Given the description of an element on the screen output the (x, y) to click on. 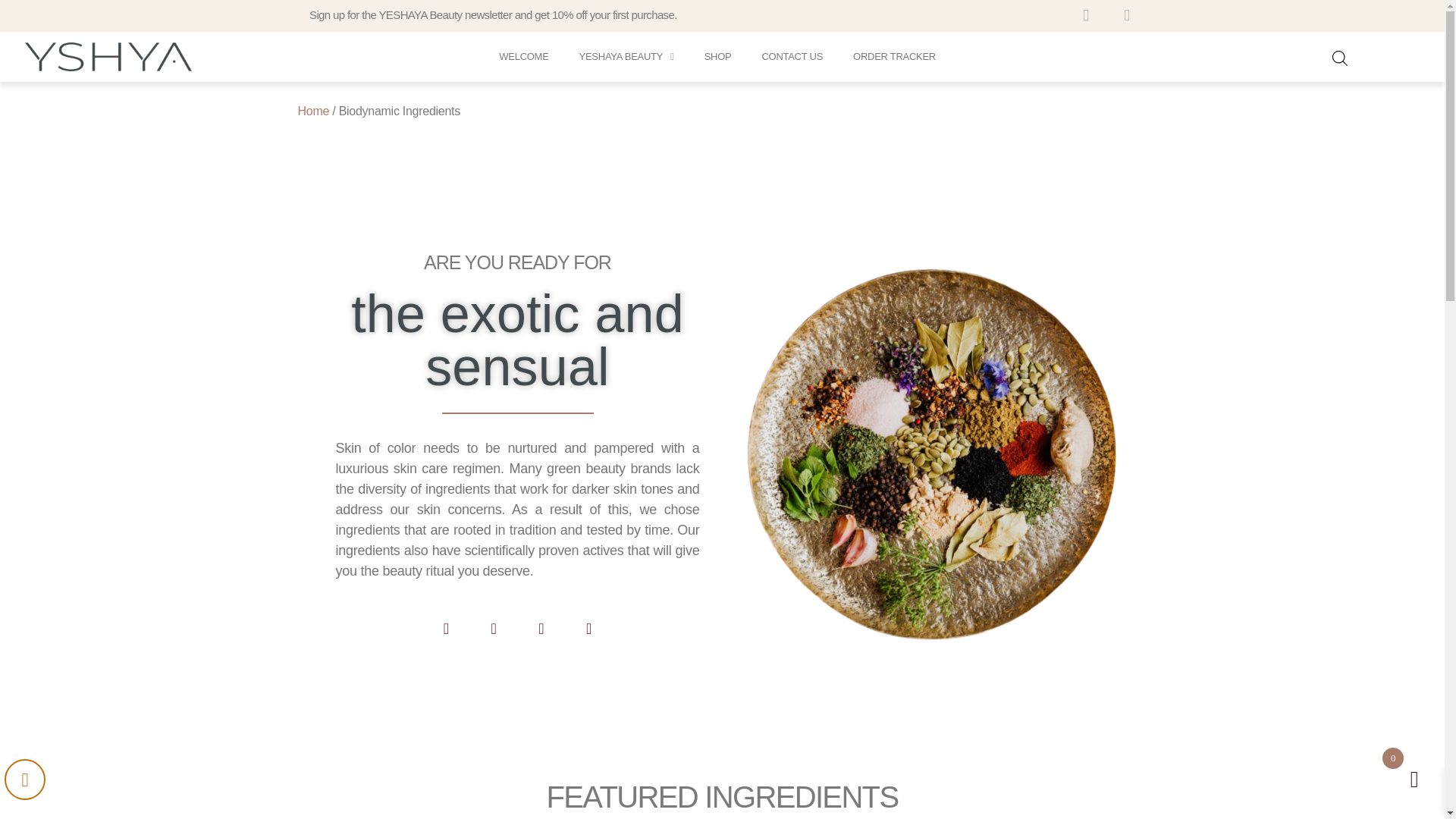
CONTACT US (791, 56)
SHOP (717, 56)
ORDER TRACKER (894, 56)
WELCOME (523, 56)
YESHAYA BEAUTY (626, 56)
Home (313, 110)
